Given the description of an element on the screen output the (x, y) to click on. 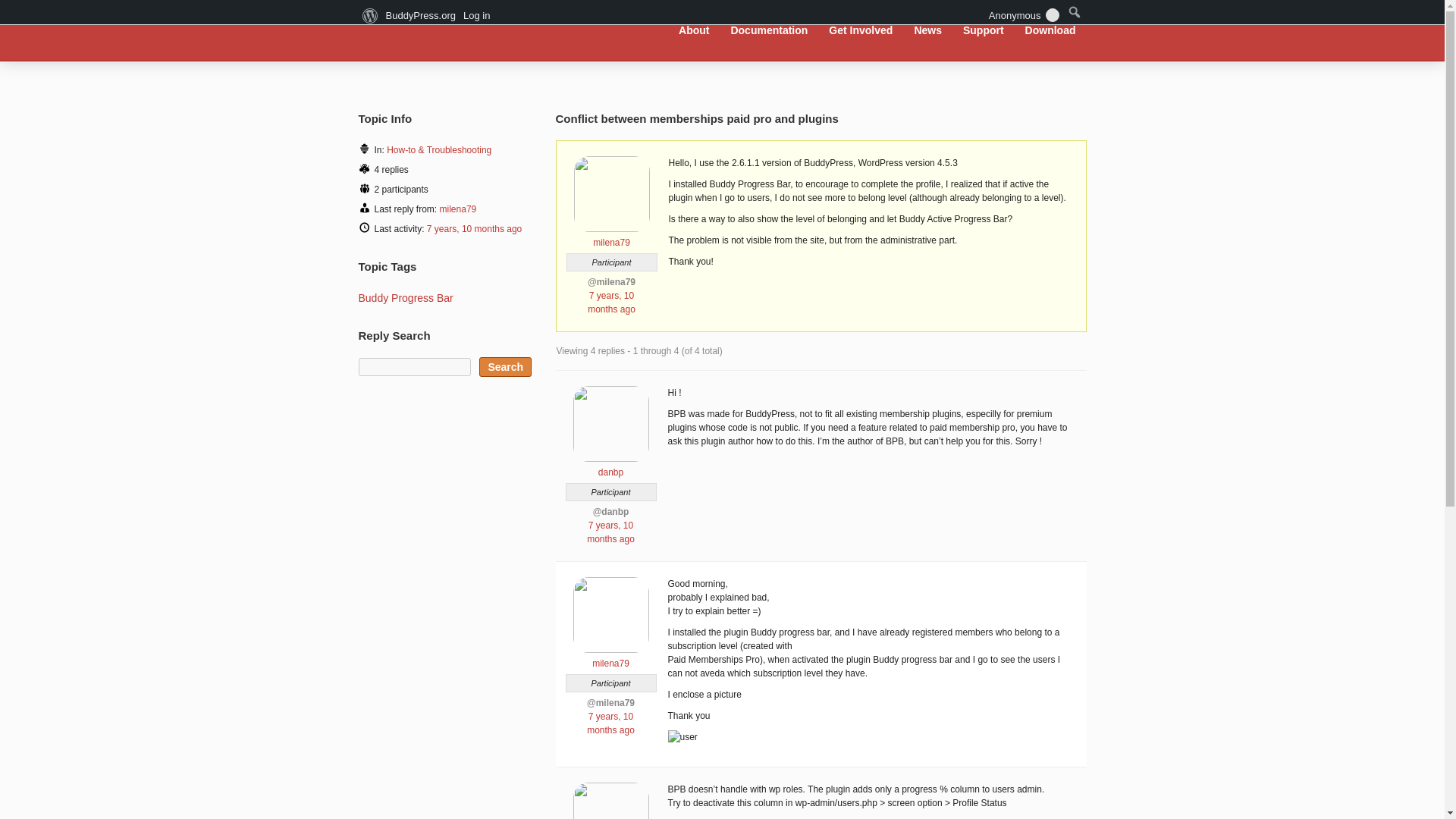
7 years, 10 months ago (611, 302)
BuddyPress.org (458, 29)
7 years, 10 months ago (610, 723)
danbp (609, 466)
Search (505, 366)
milena79 (611, 236)
Search (505, 366)
Support (983, 29)
About (693, 29)
milena79 (458, 208)
News (927, 29)
Documentation (768, 29)
7 years, 10 months ago (473, 228)
milena79 (609, 657)
Get Involved (861, 29)
